Given the description of an element on the screen output the (x, y) to click on. 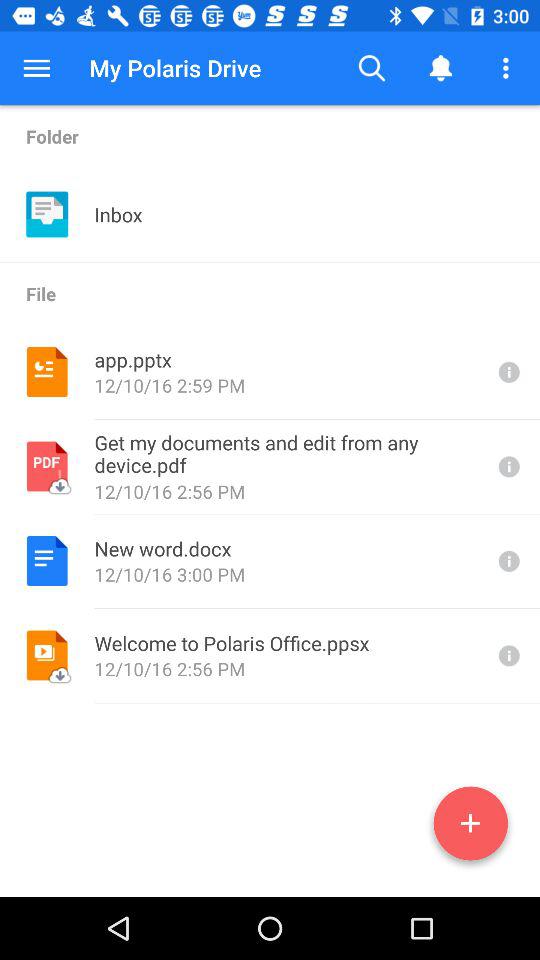
detailed information (507, 371)
